Given the description of an element on the screen output the (x, y) to click on. 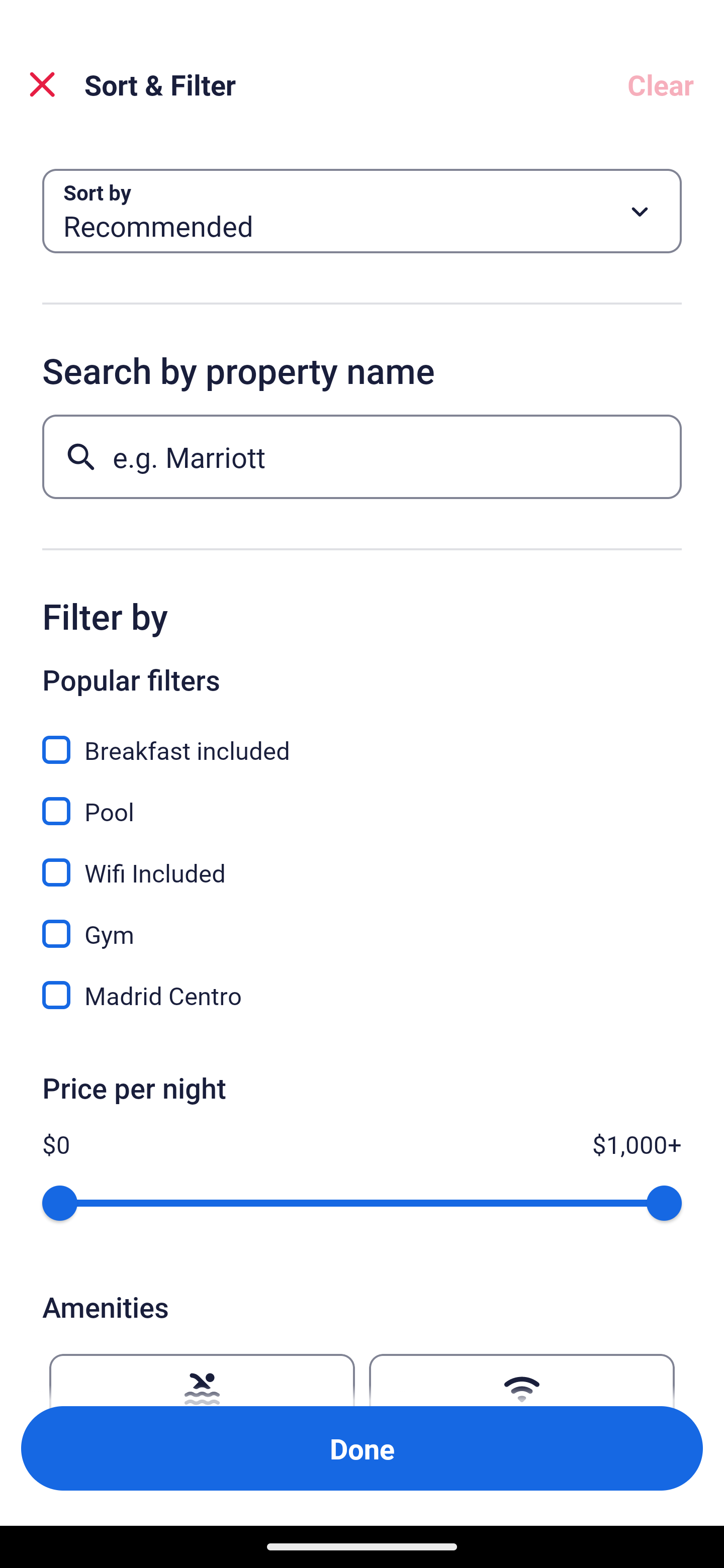
Close Sort and Filter (42, 84)
Clear (660, 84)
Sort by Button Recommended (361, 211)
e.g. Marriott Button (361, 455)
Breakfast included, Breakfast included (361, 738)
Pool, Pool (361, 800)
Wifi Included, Wifi Included (361, 861)
Gym, Gym (361, 922)
Madrid Centro, Madrid Centro (361, 995)
Apply and close Sort and Filter Done (361, 1448)
